Given the description of an element on the screen output the (x, y) to click on. 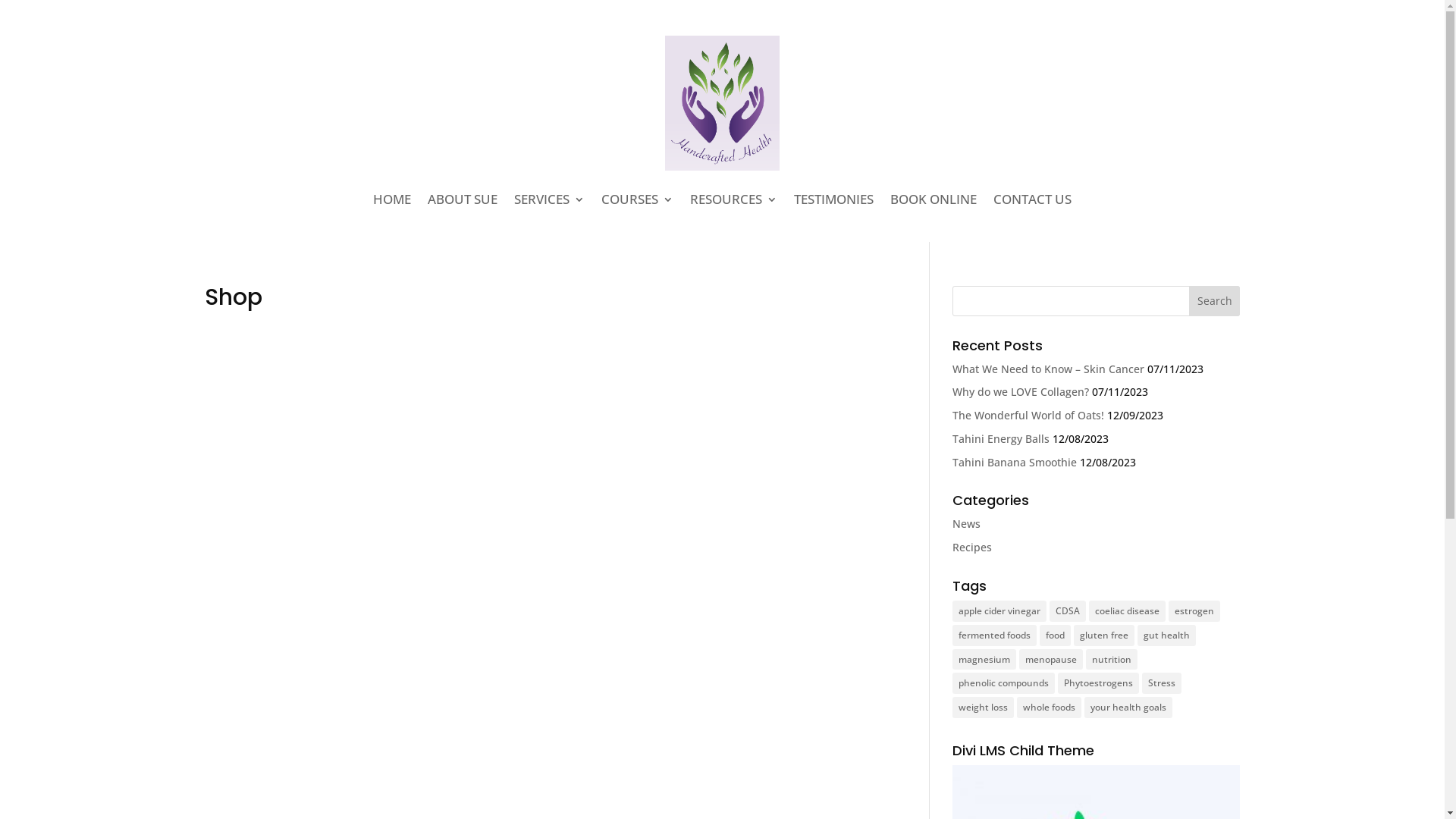
coeliac disease Element type: text (1126, 610)
gut health Element type: text (1166, 635)
Why do we LOVE Collagen? Element type: text (1020, 391)
menopause Element type: text (1050, 659)
TESTIMONIES Element type: text (833, 198)
your health goals Element type: text (1128, 707)
Stress Element type: text (1161, 682)
RESOURCES Element type: text (733, 198)
CDSA Element type: text (1067, 610)
COURSES Element type: text (637, 198)
phenolic compounds Element type: text (1003, 682)
Search Element type: text (1214, 300)
estrogen Element type: text (1194, 610)
SERVICES Element type: text (549, 198)
The Wonderful World of Oats! Element type: text (1028, 414)
gluten free Element type: text (1103, 635)
Recipes Element type: text (971, 546)
BOOK ONLINE Element type: text (933, 198)
CONTACT US Element type: text (1032, 198)
food Element type: text (1054, 635)
whole foods Element type: text (1048, 707)
ABOUT SUE Element type: text (462, 198)
News Element type: text (966, 523)
HOME Element type: text (392, 198)
weight loss Element type: text (982, 707)
magnesium Element type: text (984, 659)
Tahini Banana Smoothie Element type: text (1014, 462)
Tahini Energy Balls Element type: text (1000, 438)
Phytoestrogens Element type: text (1098, 682)
nutrition Element type: text (1111, 659)
fermented foods Element type: text (994, 635)
apple cider vinegar Element type: text (999, 610)
